Given the description of an element on the screen output the (x, y) to click on. 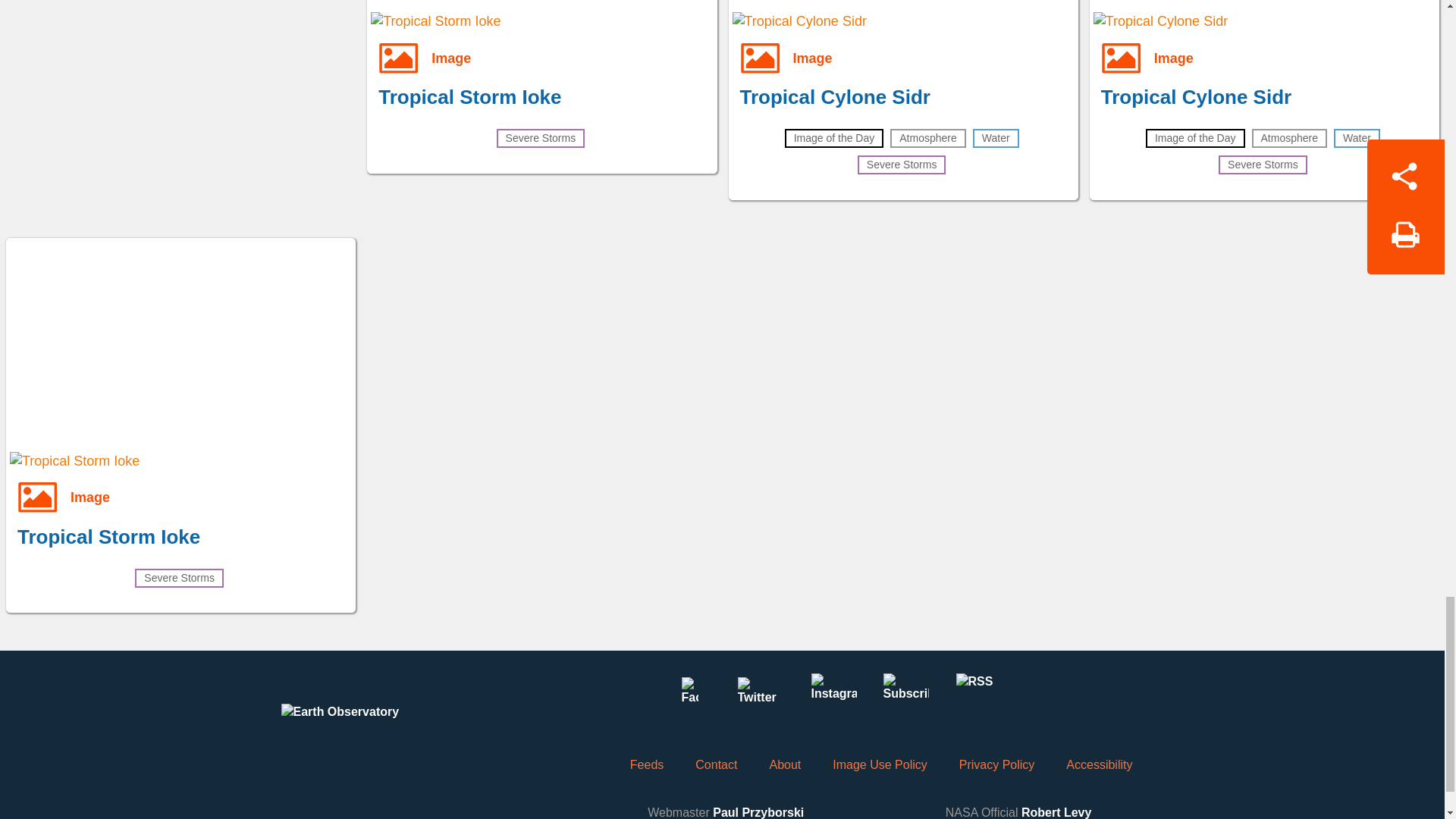
Subscribe (905, 695)
RSS (977, 695)
Twitter (761, 695)
Instagram (833, 695)
Earth Observatory (369, 726)
Facebook (689, 695)
